Given the description of an element on the screen output the (x, y) to click on. 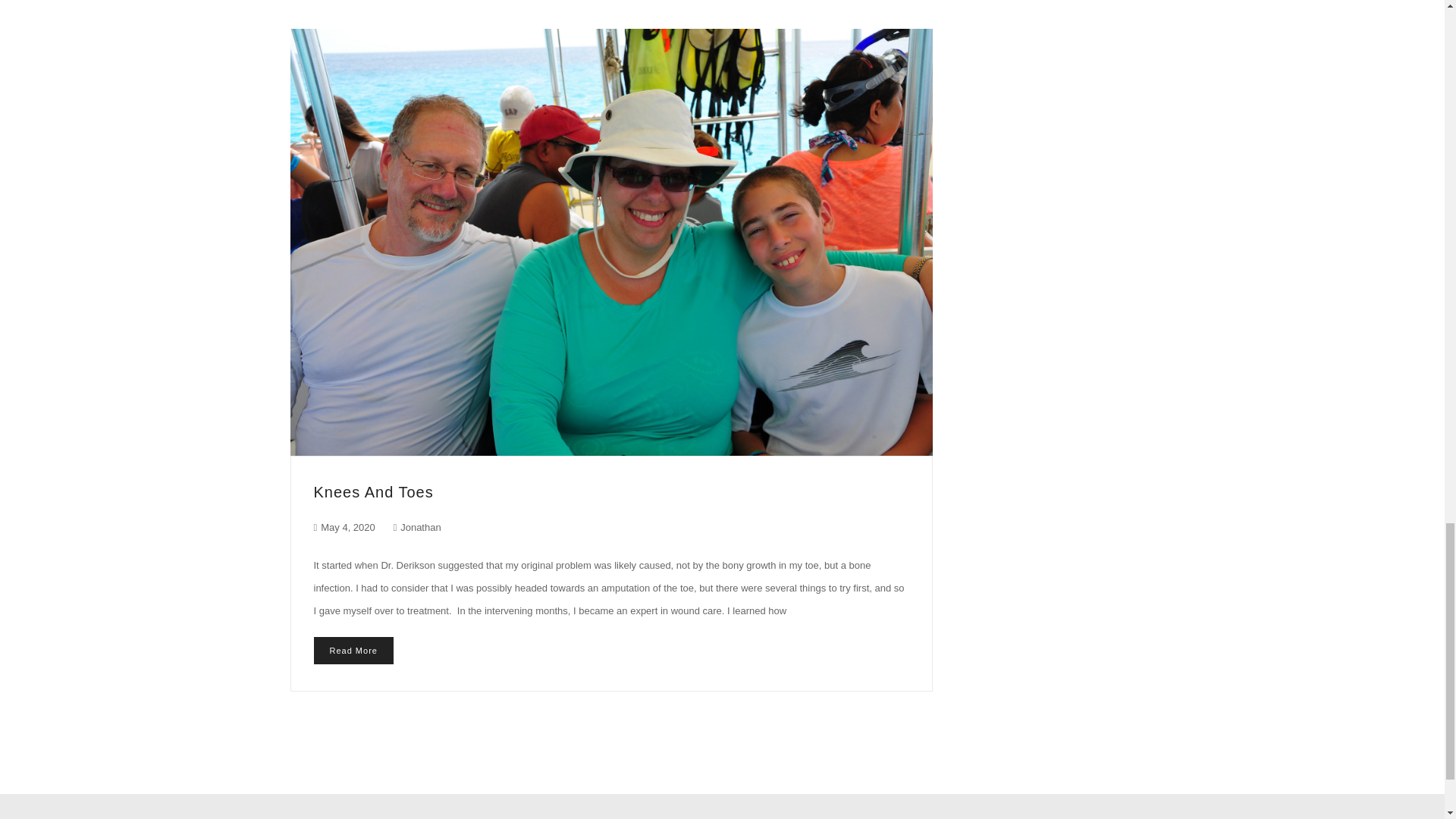
Jonathan (417, 527)
May 4, 2020 (347, 527)
Knees And Toes (373, 492)
Read More (353, 650)
